Given the description of an element on the screen output the (x, y) to click on. 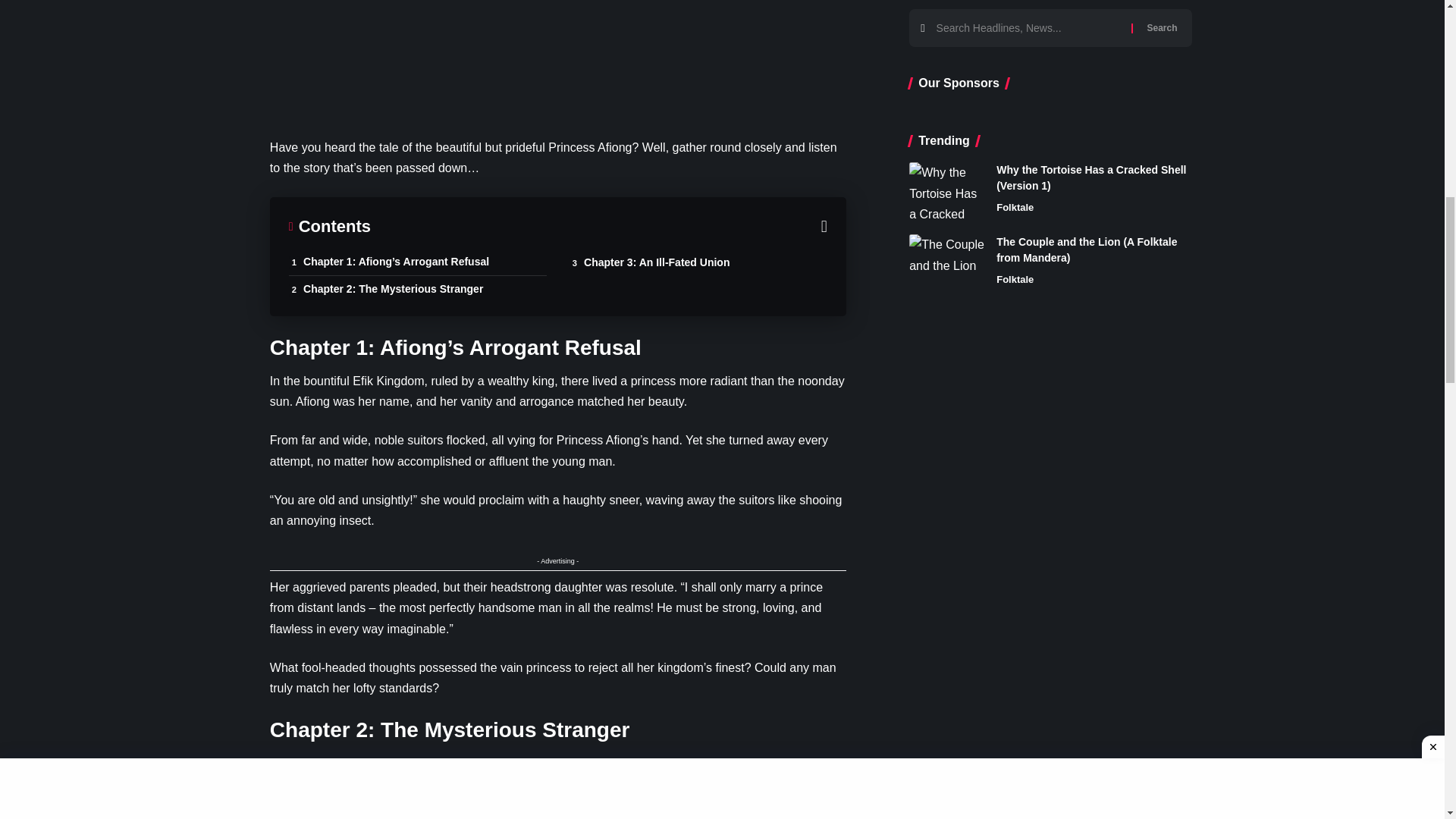
Chapter 2: The Mysterious Stranger (417, 288)
Chapter 3: An Ill-Fated Union (698, 262)
